Given the description of an element on the screen output the (x, y) to click on. 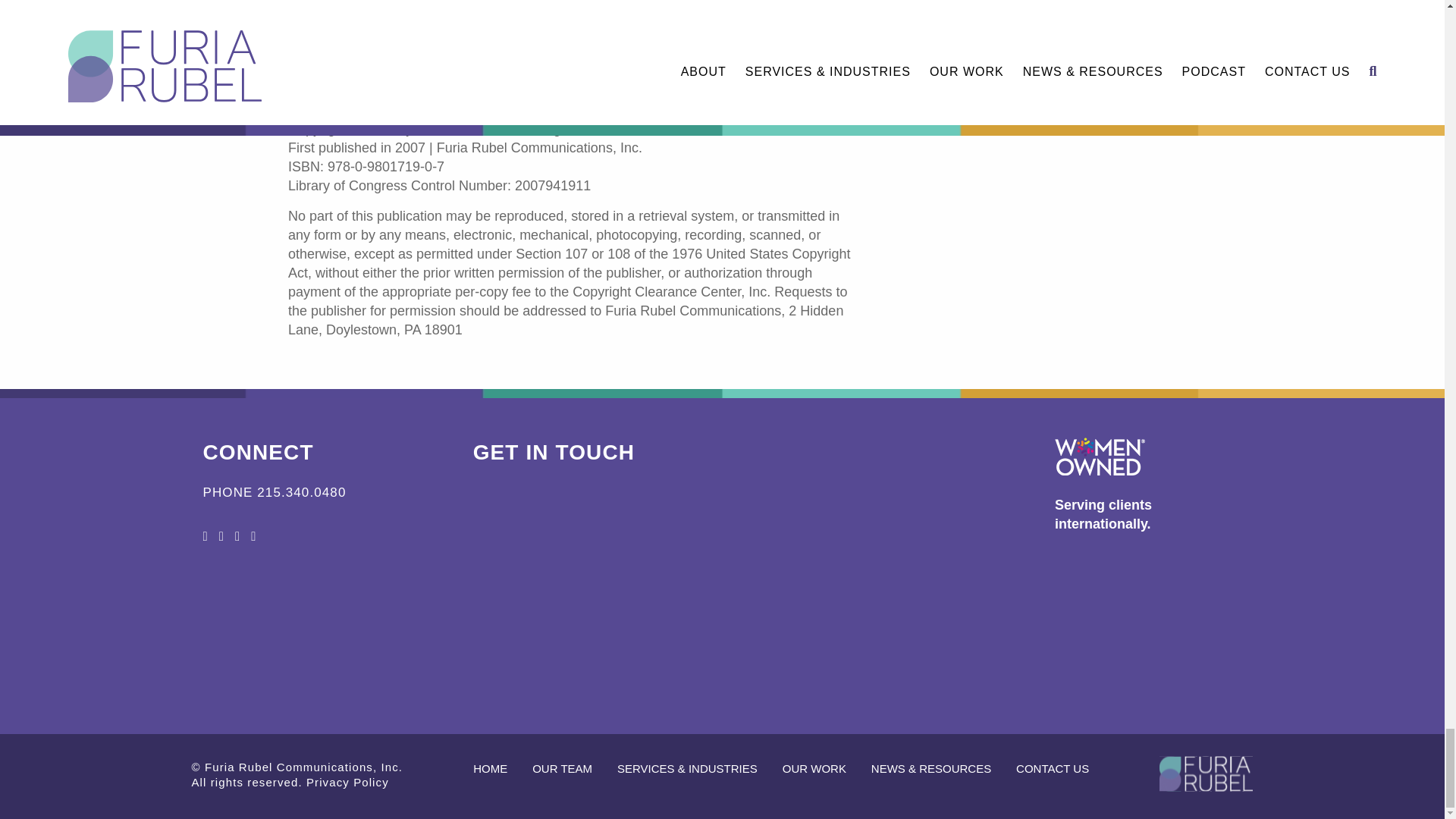
Form 0 (722, 602)
